Given the description of an element on the screen output the (x, y) to click on. 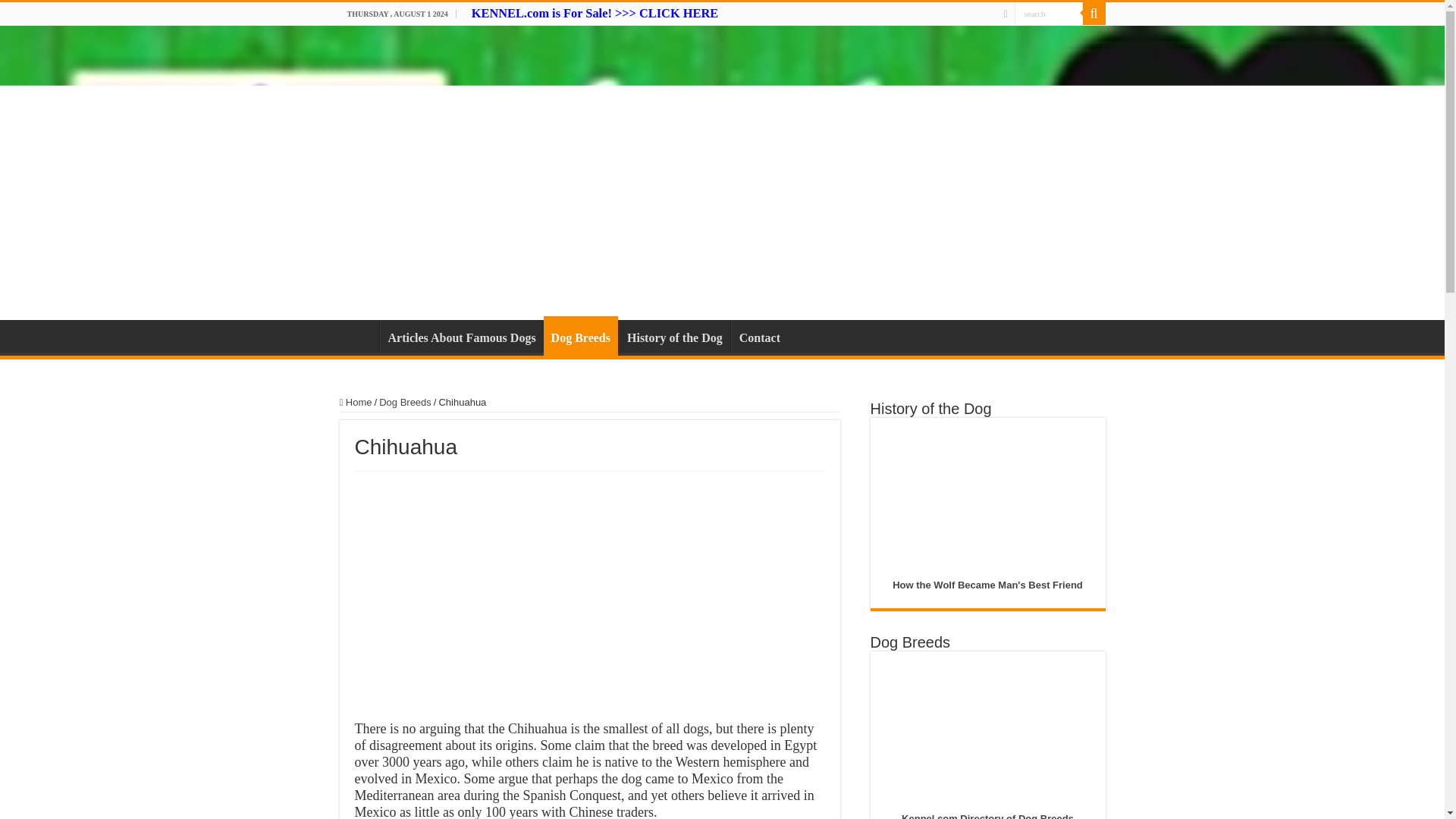
Home (355, 401)
Kennel.com Directory of Dog Breeds (987, 816)
Search (1048, 13)
Contact (758, 336)
Search (1094, 13)
Dog Breeds (580, 335)
Dog Breeds (404, 401)
Search (1048, 13)
Search (1048, 13)
Articles About Famous Dogs (460, 336)
How the Wolf Became Man's Best Friend (987, 584)
History of the Dog (674, 336)
Home (358, 336)
